Given the description of an element on the screen output the (x, y) to click on. 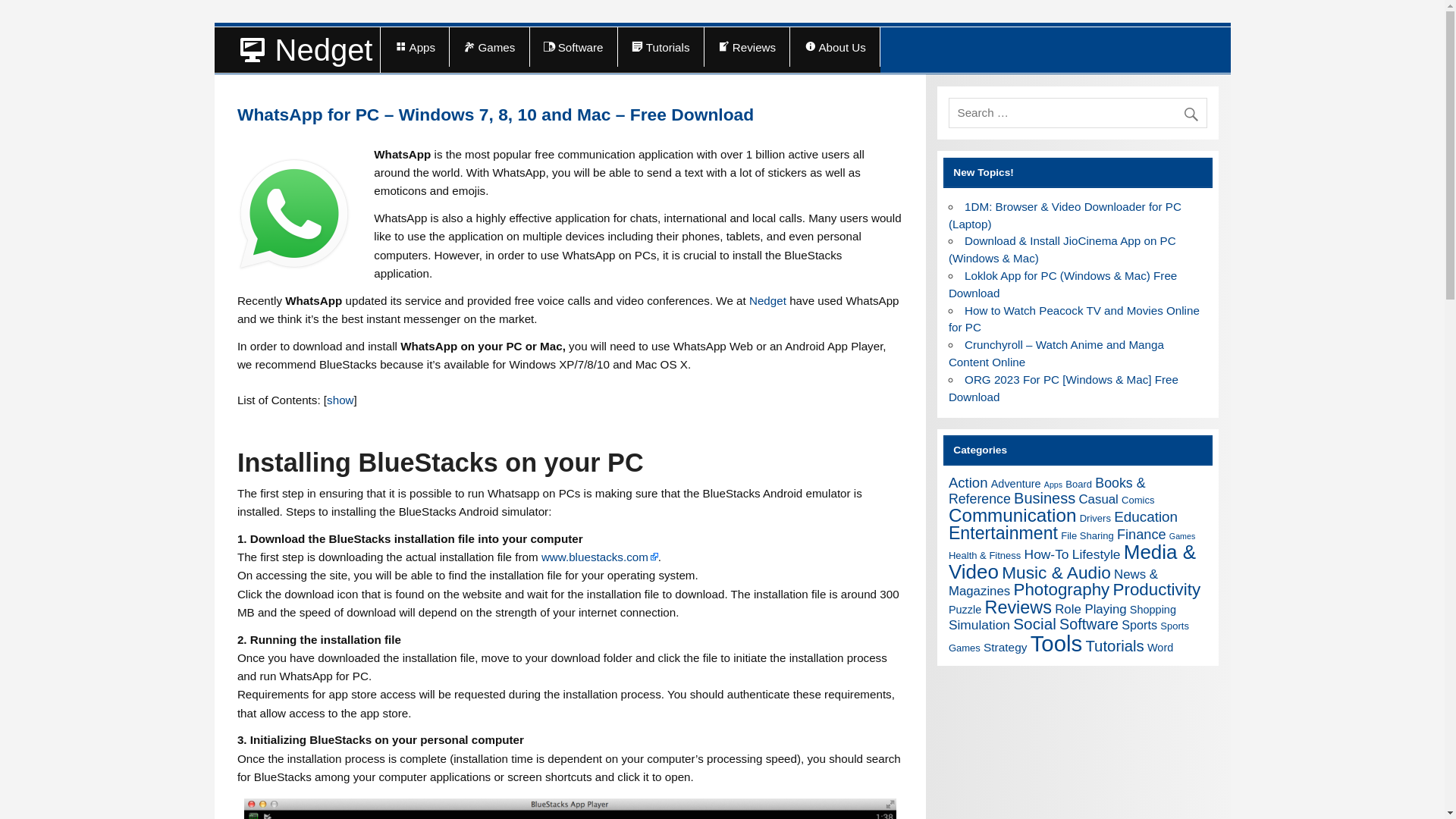
Games (488, 46)
Nedget (297, 49)
Nedget (767, 300)
Software (573, 46)
Reviews (747, 46)
show (339, 399)
Adventure (1016, 483)
Tutorials (660, 46)
How to Watch Peacock TV and Movies Online for PC (1074, 318)
Action (968, 482)
Apps (414, 46)
Apps (1052, 483)
www.bluestacks.com (599, 556)
About Us (834, 46)
